Given the description of an element on the screen output the (x, y) to click on. 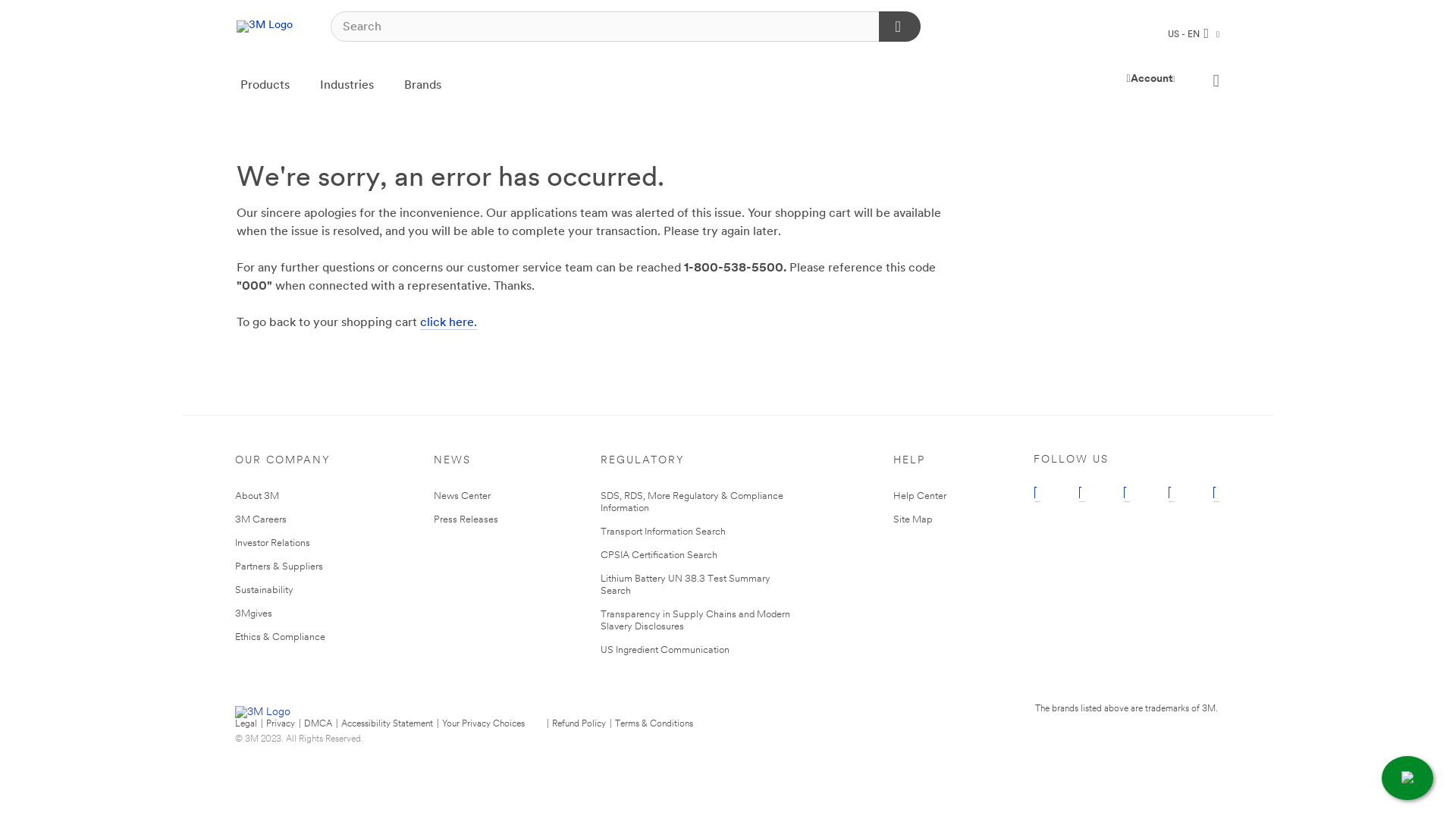
Privacy Element type: text (280, 724)
Terms & Conditions Element type: text (654, 724)
REGULATORY Element type: text (695, 460)
Refund Policy Element type: text (578, 724)
CPSIA Certification Search Element type: text (658, 555)
Brands Element type: text (422, 85)
Search Element type: text (899, 26)
3M Careers Element type: text (260, 519)
US - EN Element type: text (1193, 34)
News Center Element type: text (461, 496)
Accessibility Statement Element type: text (387, 724)
Help Center Element type: text (919, 496)
US Ingredient Communication Element type: text (664, 649)
Site Map Element type: text (912, 519)
3M in the United States Element type: hover (264, 26)
Legal Element type: text (246, 724)
Lithium Battery UN 38.3 Test Summary Search Element type: text (685, 584)
YouTube Element type: hover (1127, 495)
Twitter Element type: hover (1037, 495)
DMCA Element type: text (318, 724)
Transparency in Supply Chains and Modern Slavery Disclosures Element type: text (695, 620)
Partners & Suppliers Element type: text (279, 566)
Sustainability Element type: text (264, 590)
Transport Information Search Element type: text (662, 531)
NEWS Element type: text (465, 460)
Ethics & Compliance Element type: text (280, 637)
Facebook Element type: hover (1171, 495)
Products Element type: text (264, 85)
About 3M Element type: text (257, 496)
Investor Relations Element type: text (272, 543)
Instagram Element type: hover (1216, 495)
Your Privacy Choices Element type: text (492, 724)
SDS, RDS, More Regulatory & Compliance Information Element type: text (691, 502)
Industries Element type: text (346, 85)
Account Element type: text (1150, 79)
3Mgives Element type: text (253, 613)
click here. Element type: text (448, 322)
OUR COMPANY Element type: text (282, 460)
HELP Element type: text (919, 460)
Press Releases Element type: text (465, 519)
LinkedIn Element type: hover (1082, 495)
